Given the description of an element on the screen output the (x, y) to click on. 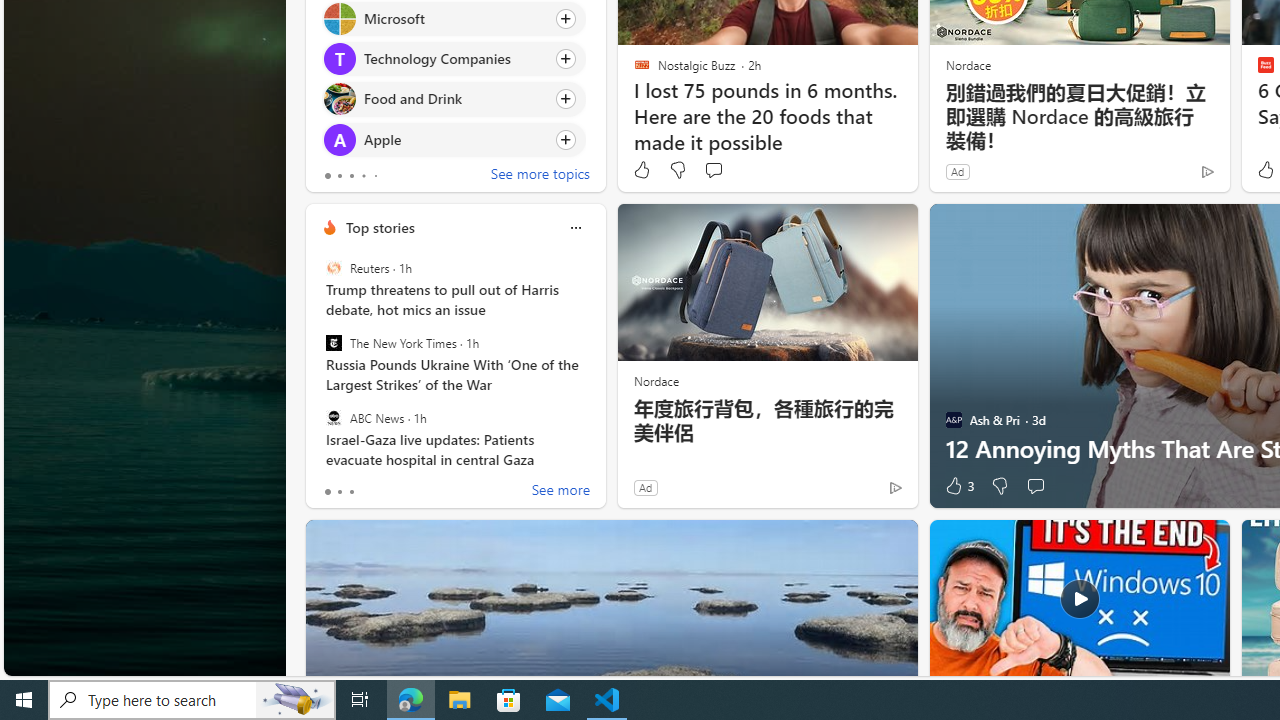
tab-4 (374, 175)
Top stories (379, 227)
The New York Times (333, 343)
tab-2 (351, 491)
Food and Drink (338, 98)
tab-3 (363, 175)
Click to follow topic Microsoft (453, 18)
